Given the description of an element on the screen output the (x, y) to click on. 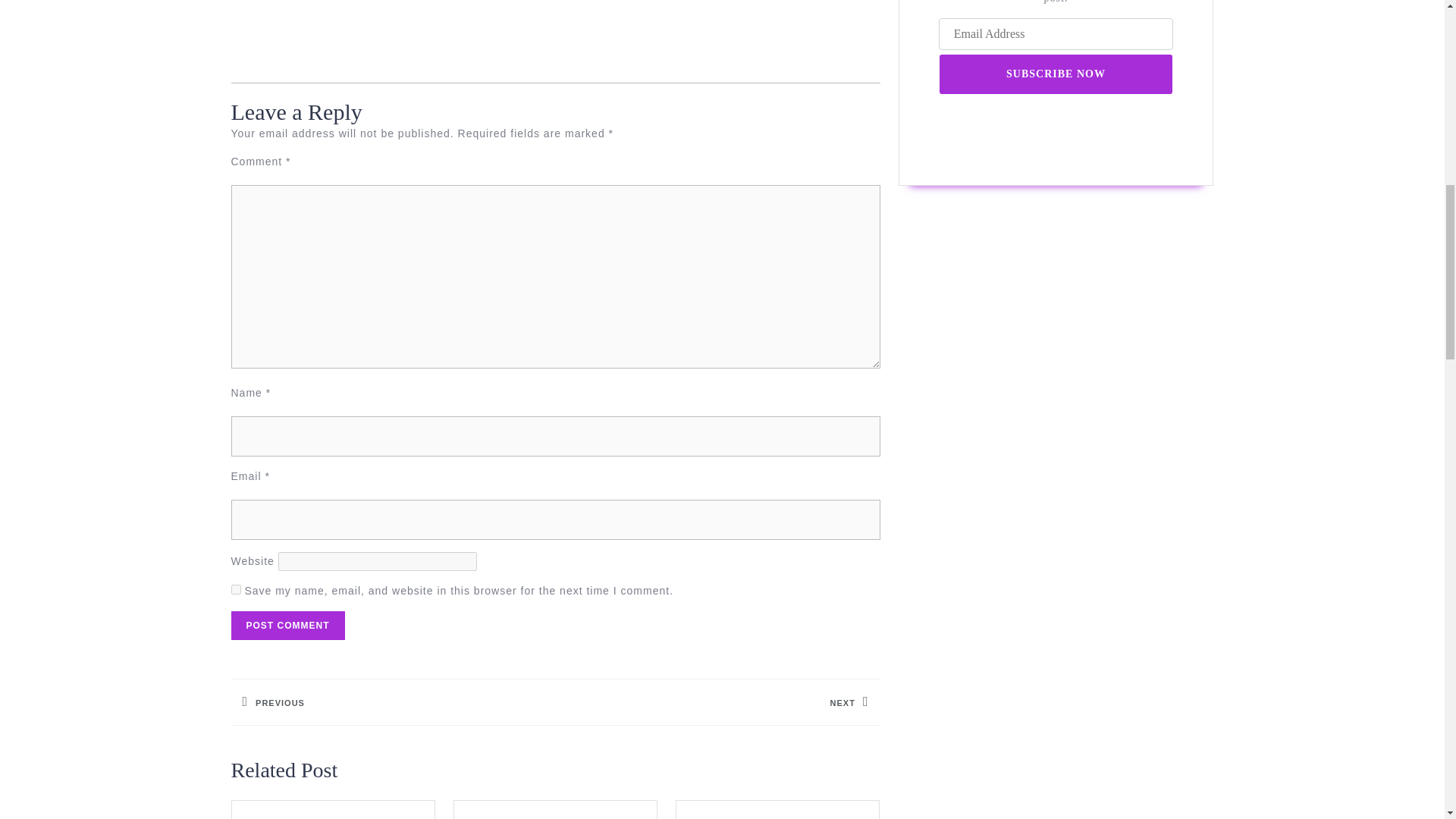
Post Comment (286, 624)
Post Comment (716, 701)
yes (286, 624)
SUBSCRIBE NOW (392, 701)
